Given the description of an element on the screen output the (x, y) to click on. 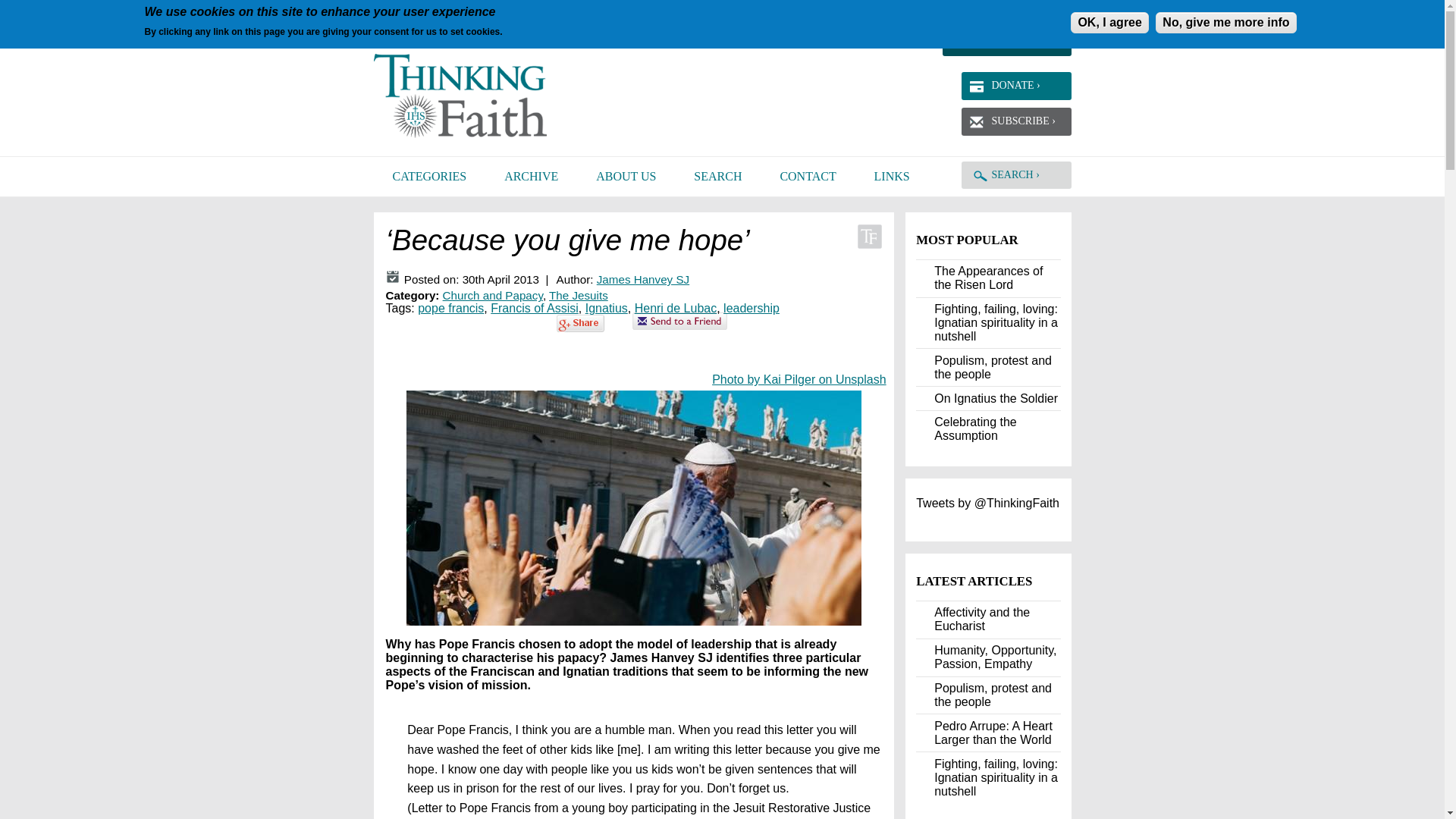
SPIRITUALITY (903, 15)
Henri de Lubac (675, 308)
CONTACT (807, 176)
Twitter (483, 15)
No, give me more info (1225, 22)
pope francis (450, 308)
JESUITS (1006, 28)
Church and Papacy (492, 295)
ARCHIVE (530, 176)
